Given the description of an element on the screen output the (x, y) to click on. 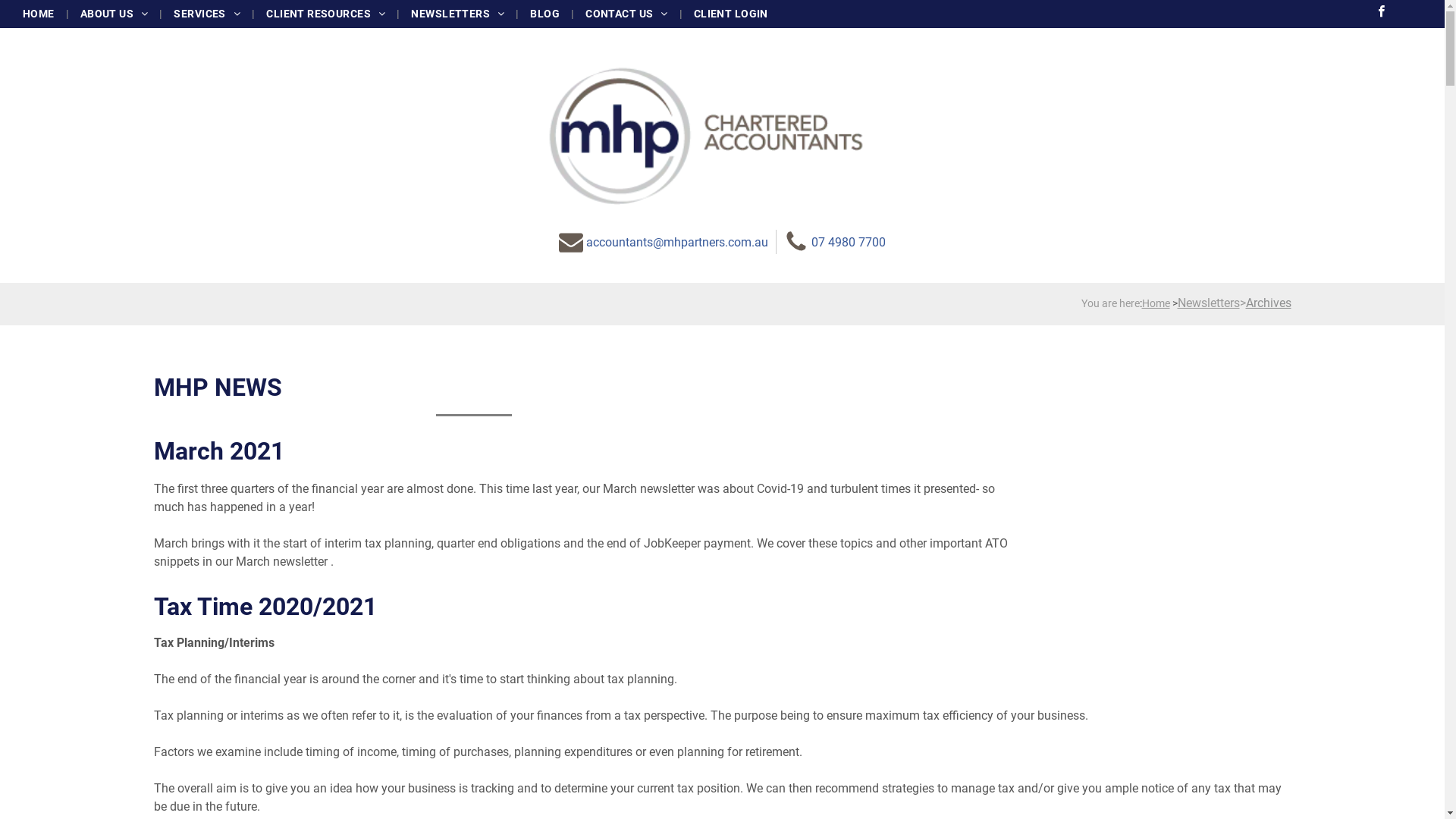
Home Element type: text (1156, 303)
CLIENT RESOURCES Element type: text (325, 13)
07 4980 7700 Element type: text (834, 241)
HOME Element type: text (38, 13)
Archives Element type: text (1267, 302)
CONTACT US Element type: text (626, 13)
NEWSLETTERS Element type: text (457, 13)
accountants@mhpartners.com.au Element type: text (663, 241)
SERVICES Element type: text (206, 13)
Newsletters Element type: text (1207, 302)
CLIENT LOGIN Element type: text (730, 13)
BLOG Element type: text (544, 13)
ABOUT US Element type: text (114, 13)
